Given the description of an element on the screen output the (x, y) to click on. 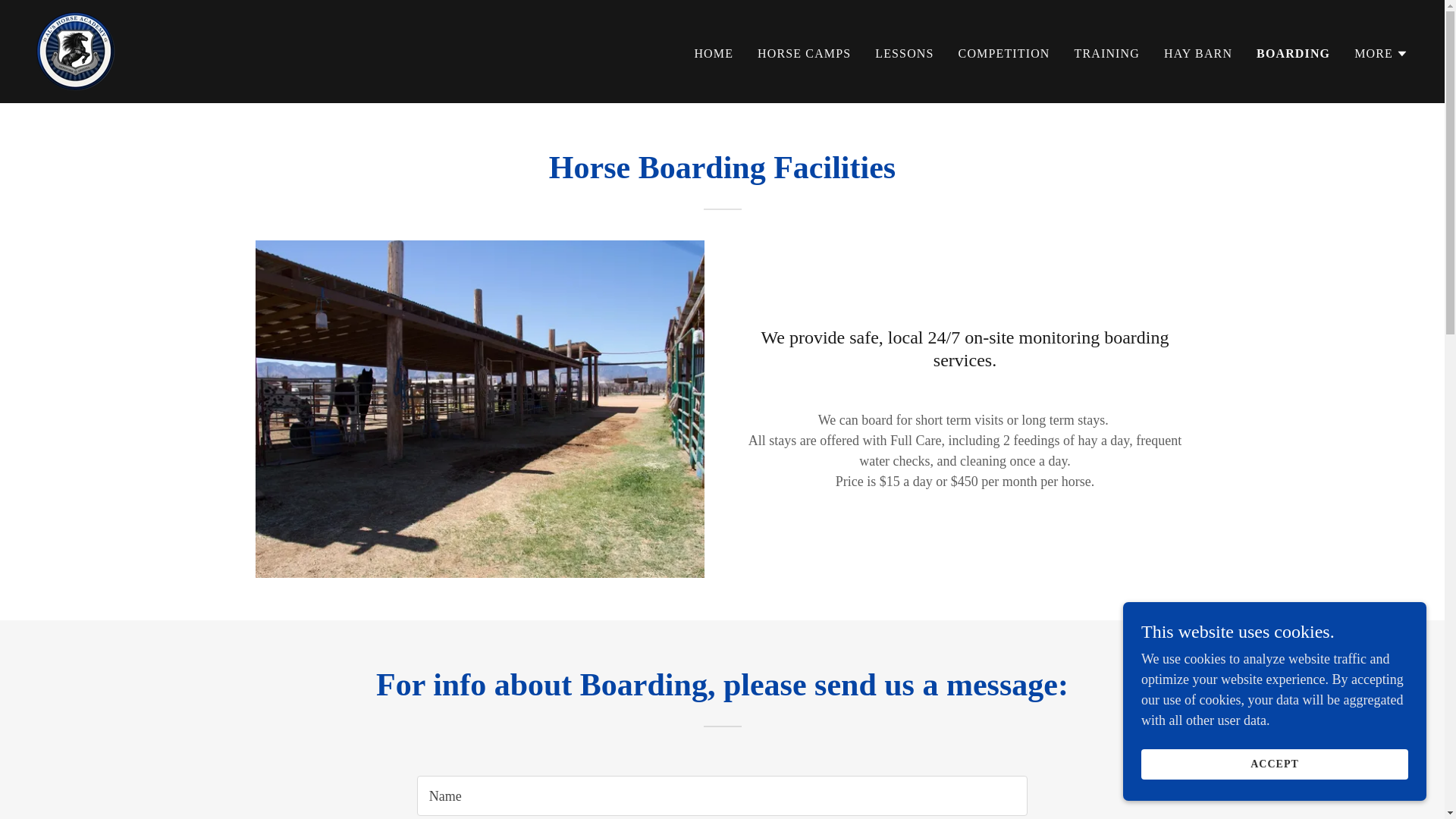
COMPETITION (1003, 52)
HOME (713, 52)
MORE (1380, 53)
BOARDING (1293, 53)
LESSONS (903, 52)
TRAINING (1107, 52)
Al's Horse Academy (75, 49)
HAY BARN (1197, 52)
HORSE CAMPS (804, 52)
